Given the description of an element on the screen output the (x, y) to click on. 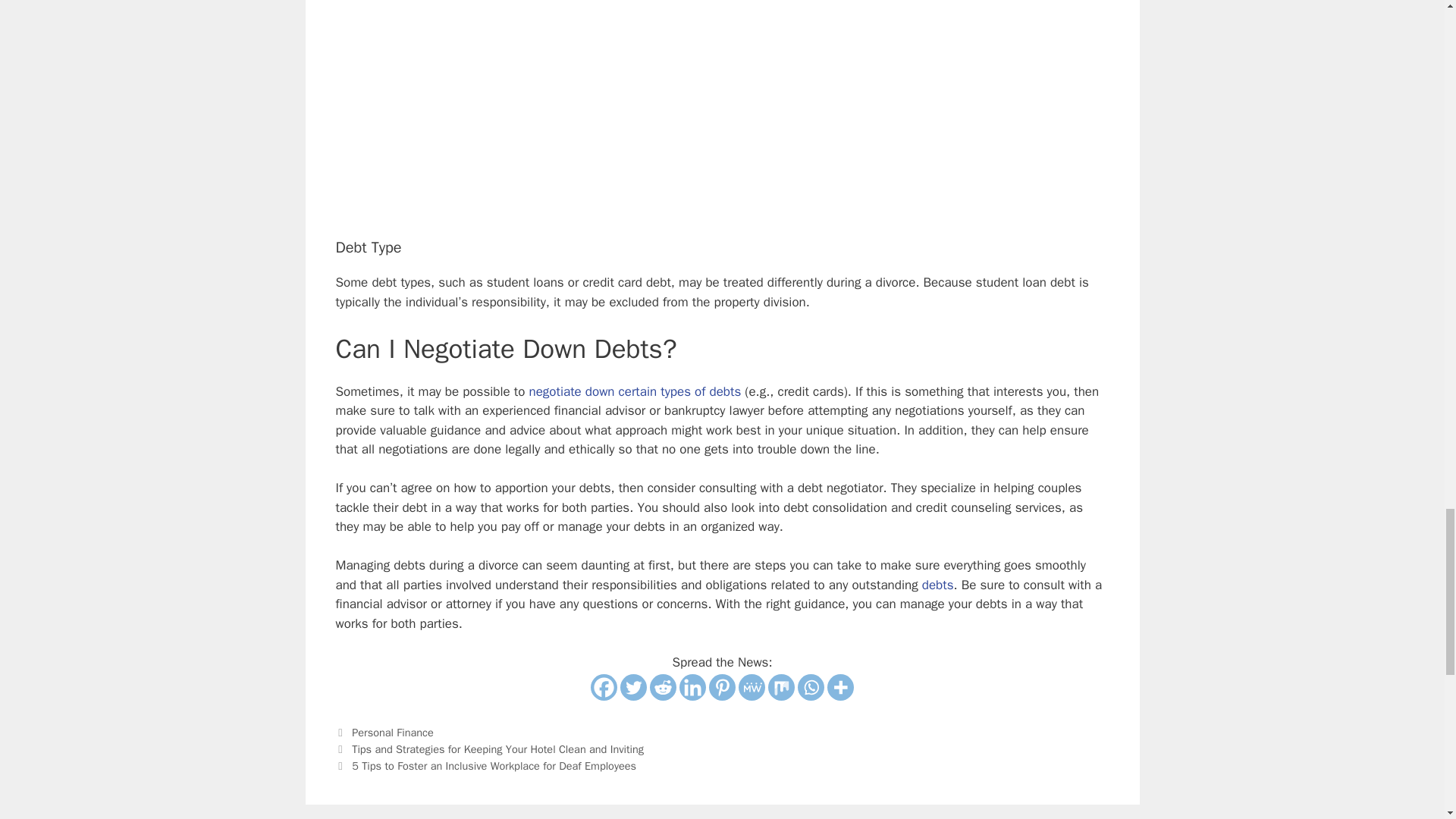
Twitter (633, 687)
negotiate down certain types of debts (634, 391)
Personal Finance (392, 732)
5 Tips to Foster an Inclusive Workplace for Deaf Employees (494, 766)
Whatsapp (810, 687)
Reddit (663, 687)
Linkedin (692, 687)
More (840, 687)
Facebook (604, 687)
MeWe (751, 687)
debts (937, 584)
Pinterest (722, 687)
Mix (781, 687)
